Given the description of an element on the screen output the (x, y) to click on. 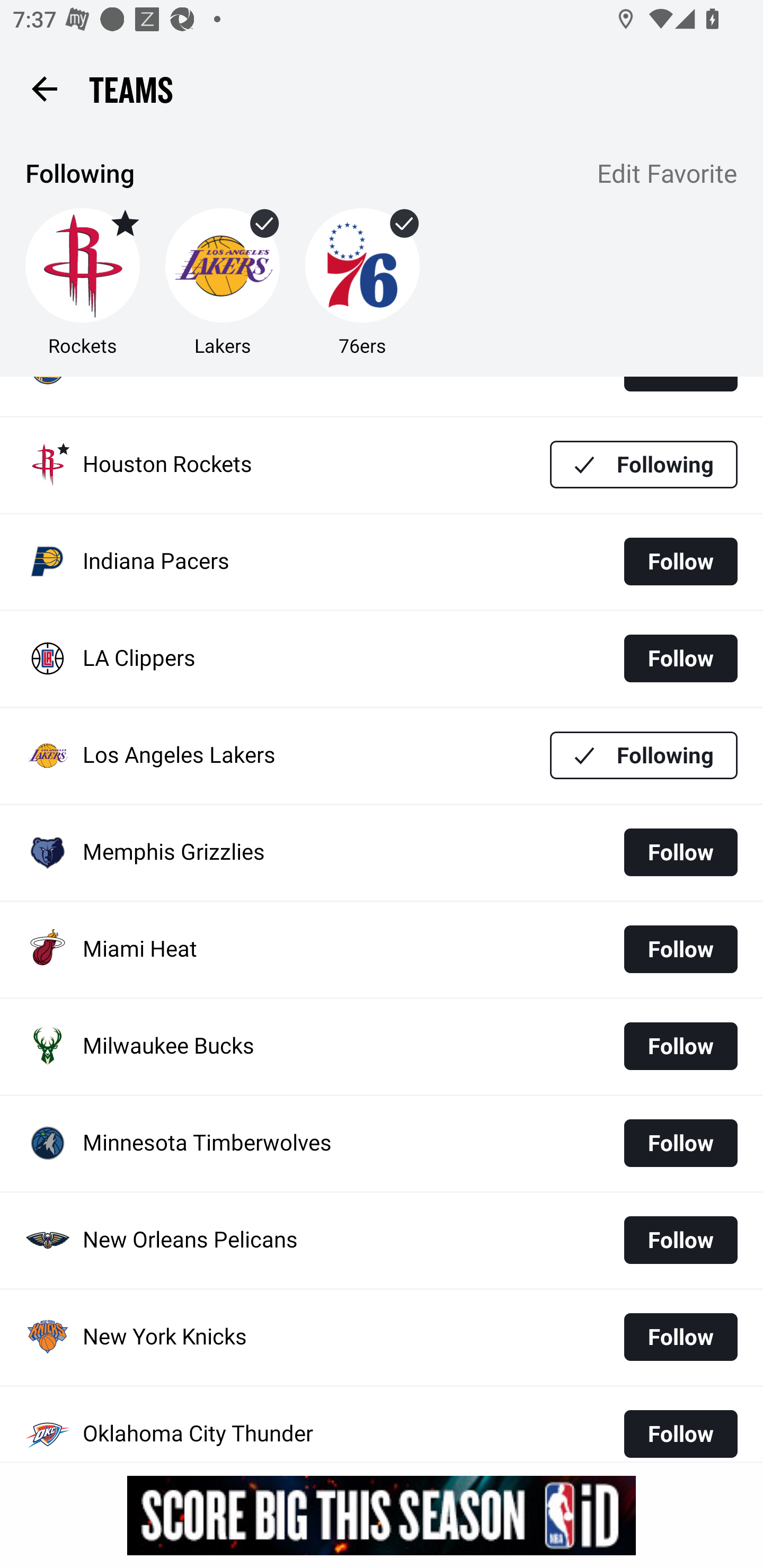
Back button (44, 88)
Edit Favorite (667, 175)
Houston Rockets Following (381, 464)
Following (643, 464)
Indiana Pacers Follow (381, 561)
Follow (680, 560)
LA Clippers Follow (381, 659)
Follow (680, 658)
Los Angeles Lakers Following (381, 755)
Following (643, 754)
Memphis Grizzlies Follow (381, 852)
Follow (680, 851)
Miami Heat Follow (381, 949)
Follow (680, 949)
Milwaukee Bucks Follow (381, 1046)
Follow (680, 1046)
Minnesota Timberwolves Follow (381, 1143)
Follow (680, 1142)
New Orleans Pelicans Follow (381, 1240)
Follow (680, 1239)
New York Knicks Follow (381, 1337)
Follow (680, 1336)
Oklahoma City Thunder Follow (381, 1423)
Follow (680, 1428)
g5nqqygr7owph (381, 1515)
